Given the description of an element on the screen output the (x, y) to click on. 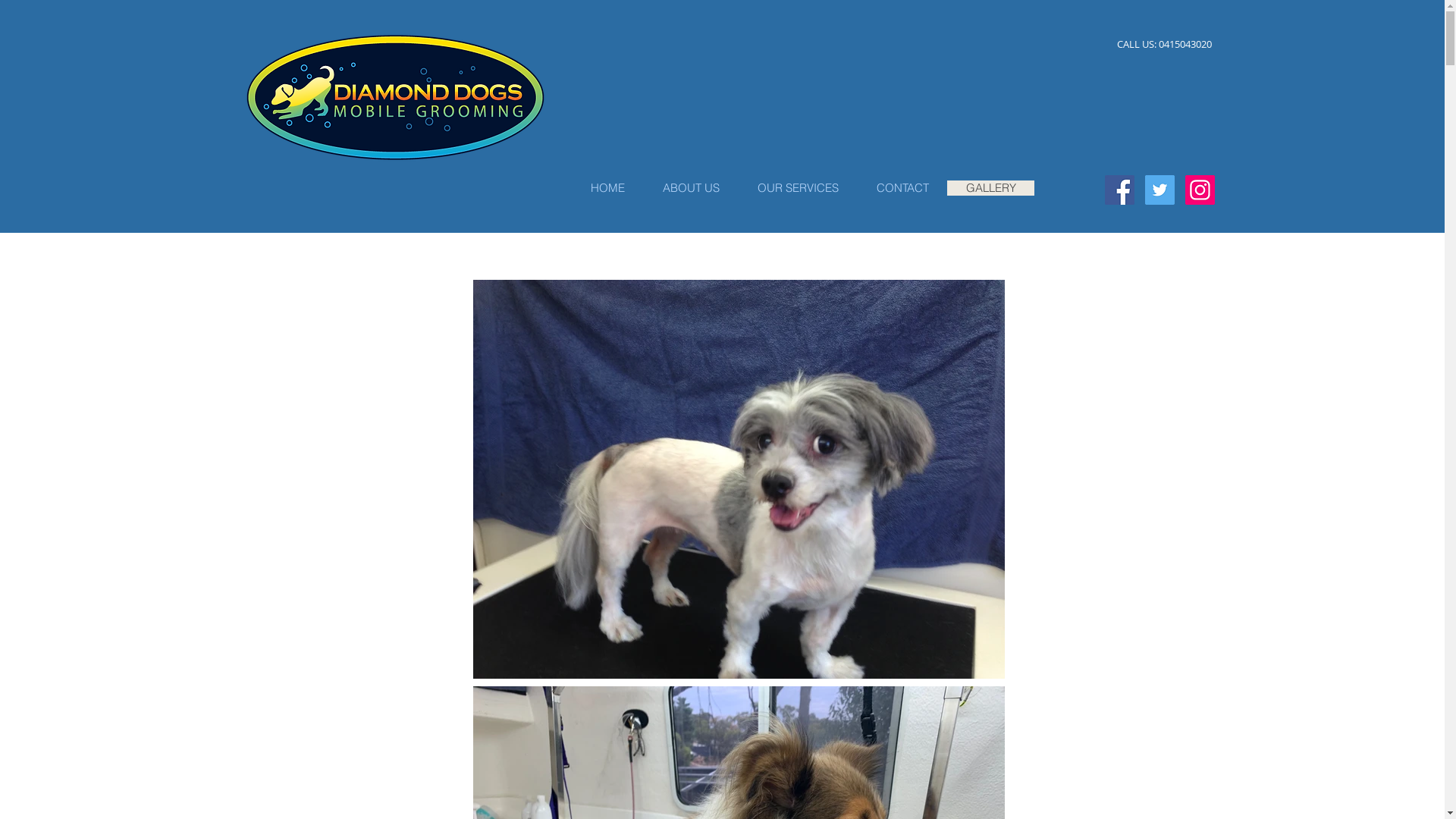
OUR SERVICES Element type: text (797, 187)
HOME Element type: text (607, 187)
GALLERY Element type: text (989, 187)
ABOUT US Element type: text (690, 187)
CONTACT Element type: text (901, 187)
